Given the description of an element on the screen output the (x, y) to click on. 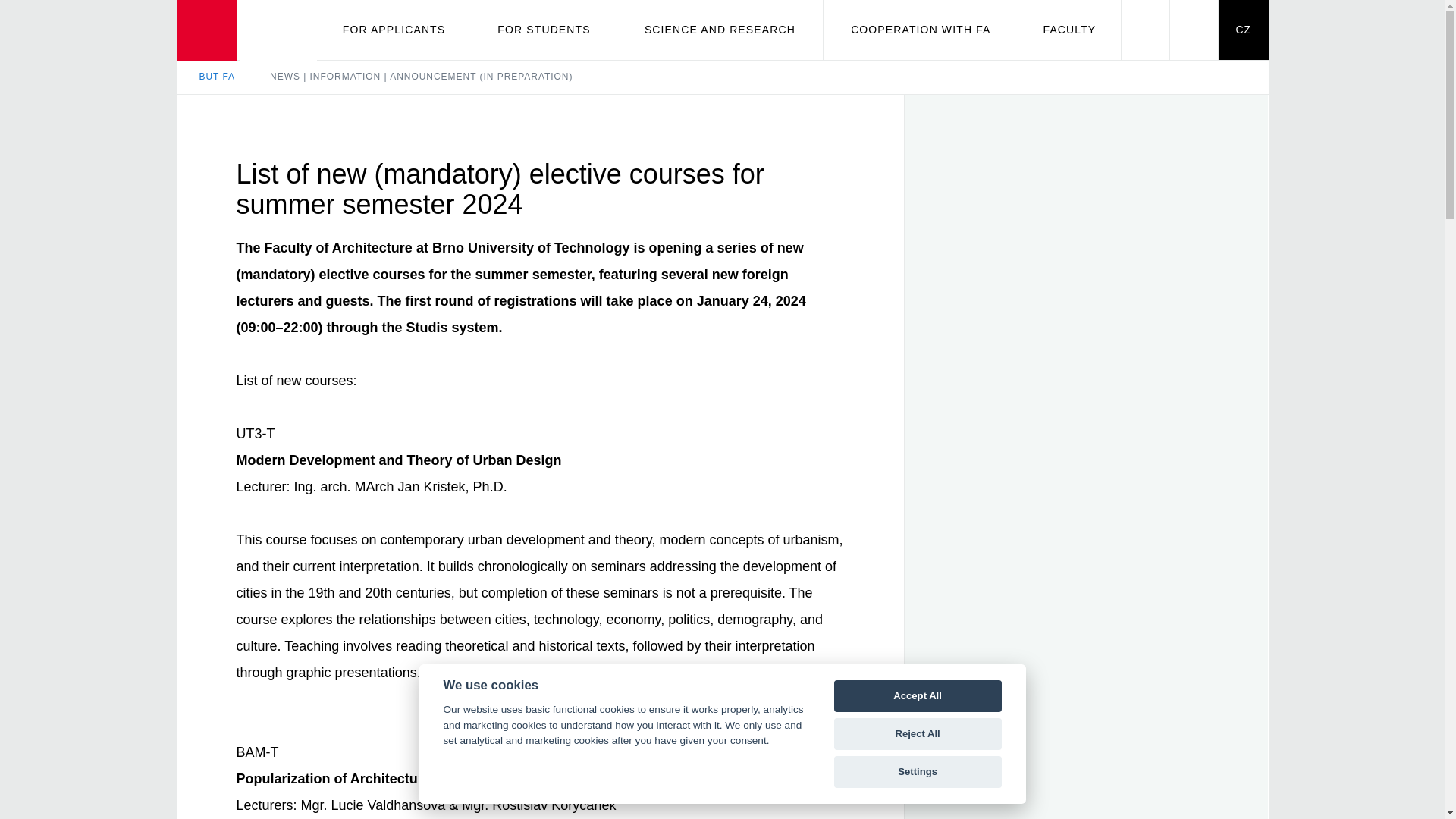
FOR STUDENTS (543, 29)
FOR APPLICANTS (394, 29)
SCIENCE AND RESEARCH (720, 29)
FACULTY (1068, 29)
COOPERATION WITH FA (920, 29)
